Given the description of an element on the screen output the (x, y) to click on. 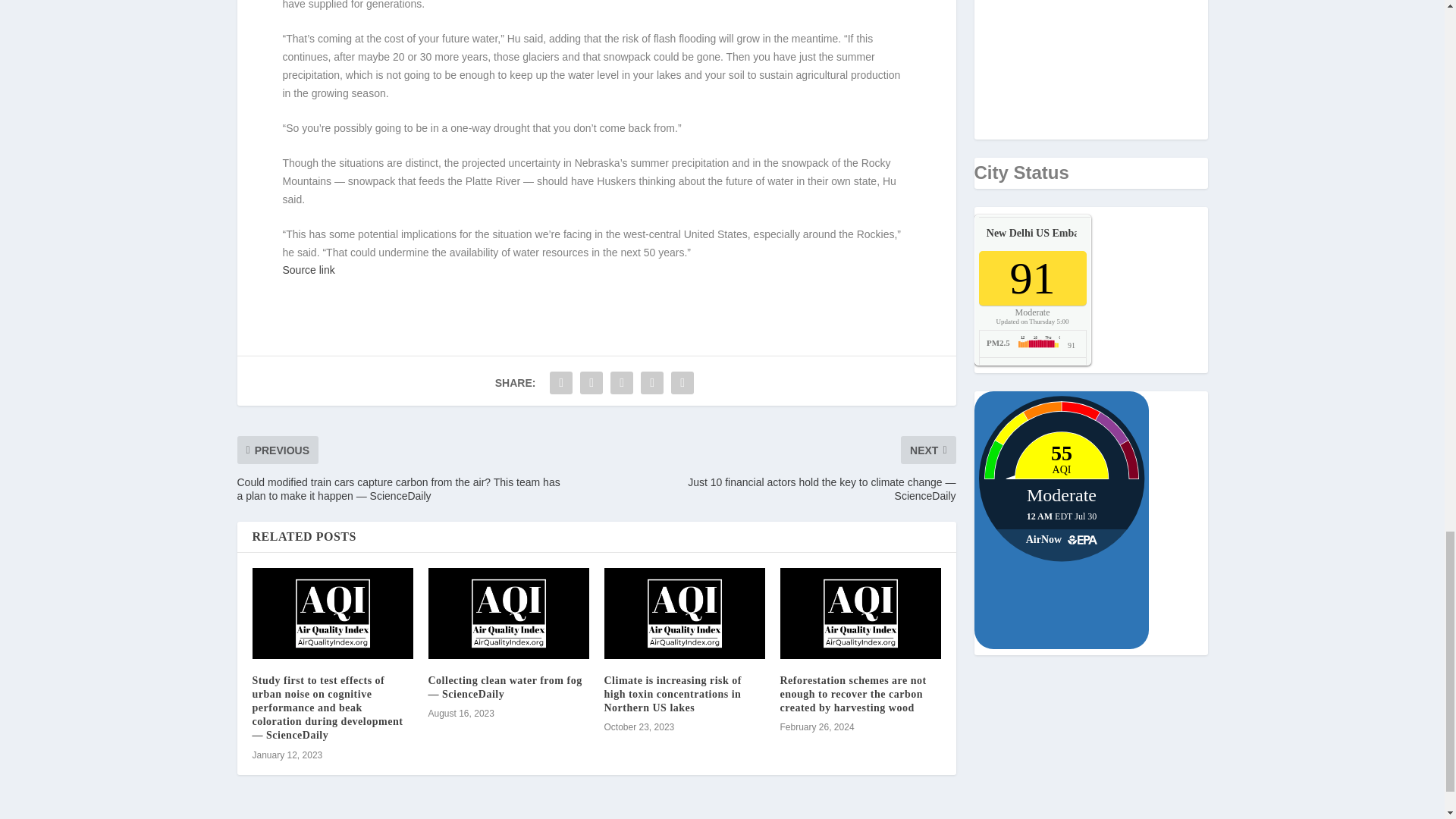
Source link (308, 269)
